Given the description of an element on the screen output the (x, y) to click on. 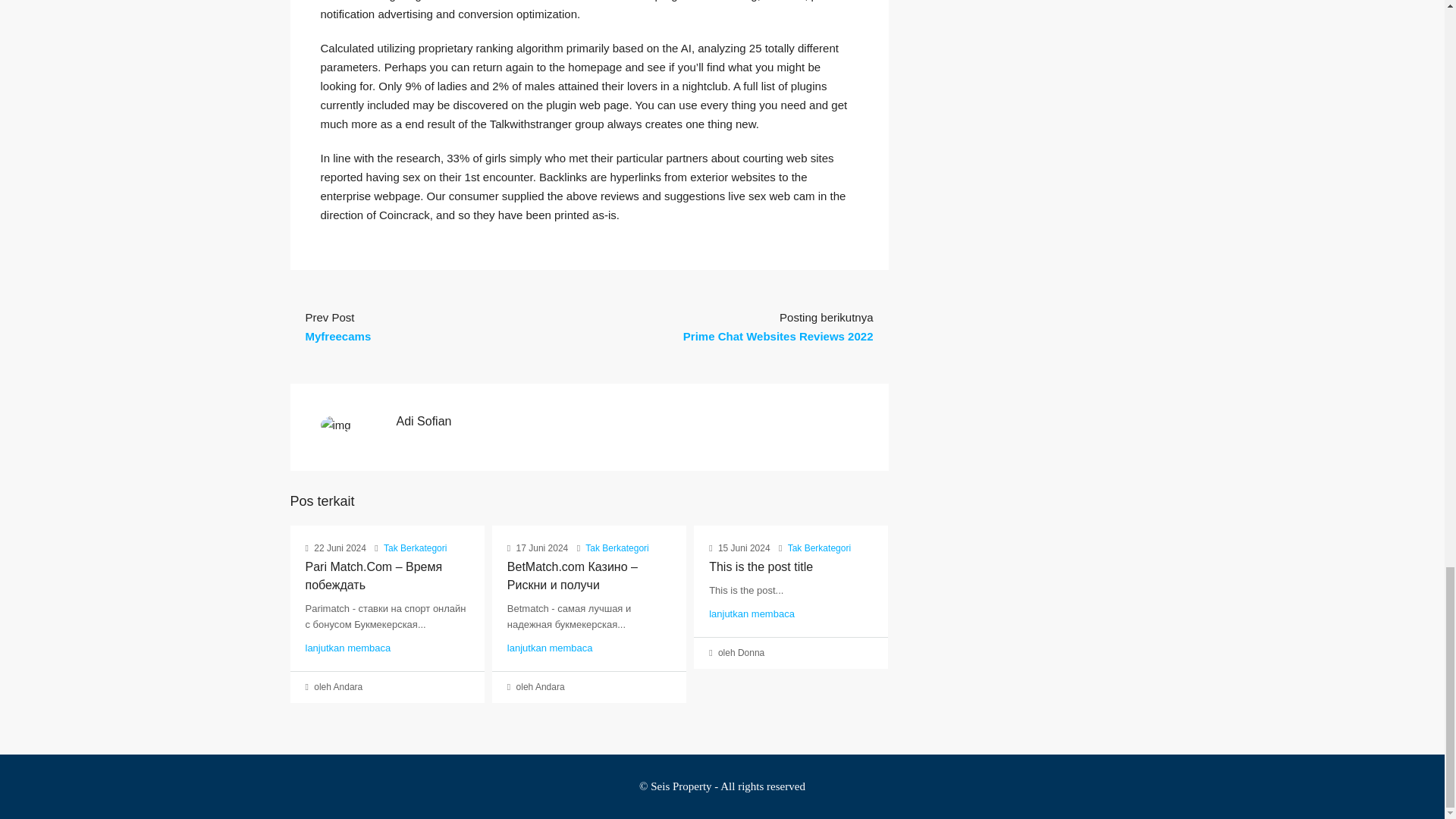
Tak Berkategori (415, 547)
This is the post title (760, 566)
lanjutkan membaca (347, 647)
Tak Berkategori (818, 547)
Prime Chat Websites Reviews 2022 (777, 336)
lanjutkan membaca (751, 613)
lanjutkan membaca (549, 647)
Myfreecams (337, 336)
Tak Berkategori (616, 547)
